Given the description of an element on the screen output the (x, y) to click on. 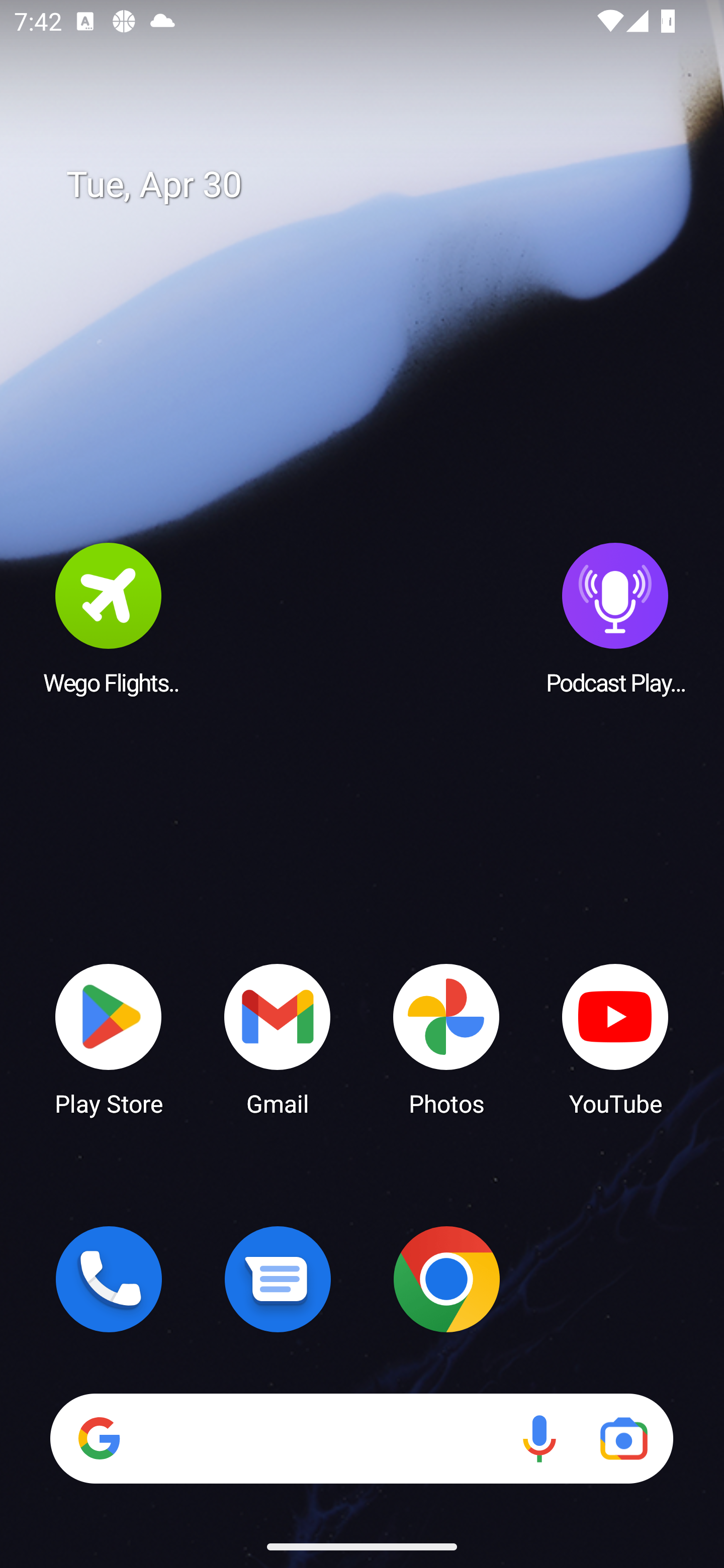
Tue, Apr 30 (375, 184)
Wego Flights & Hotels (108, 617)
Podcast Player (615, 617)
Play Store (108, 1038)
Gmail (277, 1038)
Photos (445, 1038)
YouTube (615, 1038)
Phone (108, 1279)
Messages (277, 1279)
Chrome (446, 1279)
Voice search (539, 1438)
Google Lens (623, 1438)
